Given the description of an element on the screen output the (x, y) to click on. 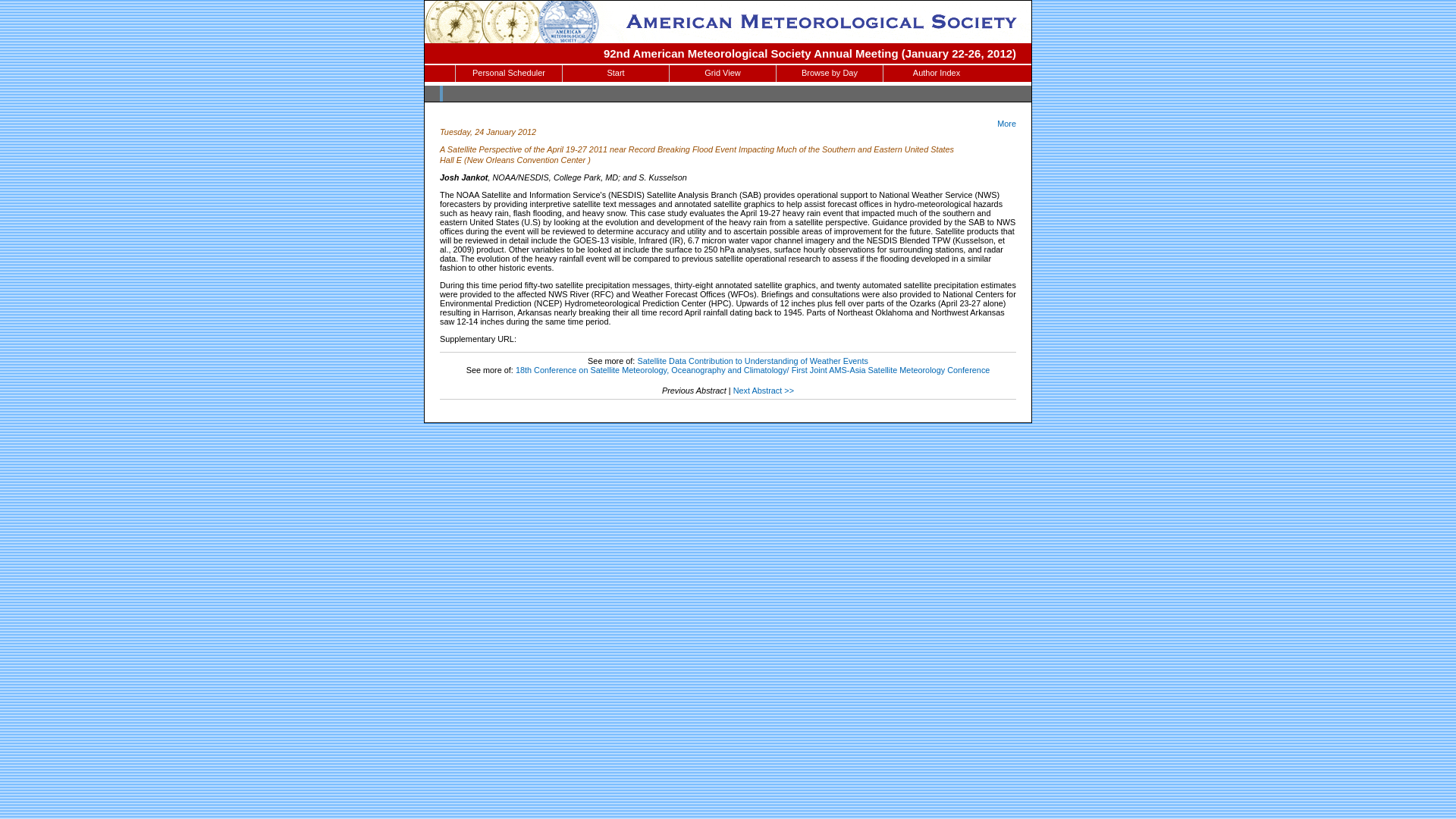
Browse by Day (829, 73)
Grid View (722, 73)
Author Index (936, 73)
Start (615, 73)
Personal Scheduler (508, 73)
More (1006, 122)
